Given the description of an element on the screen output the (x, y) to click on. 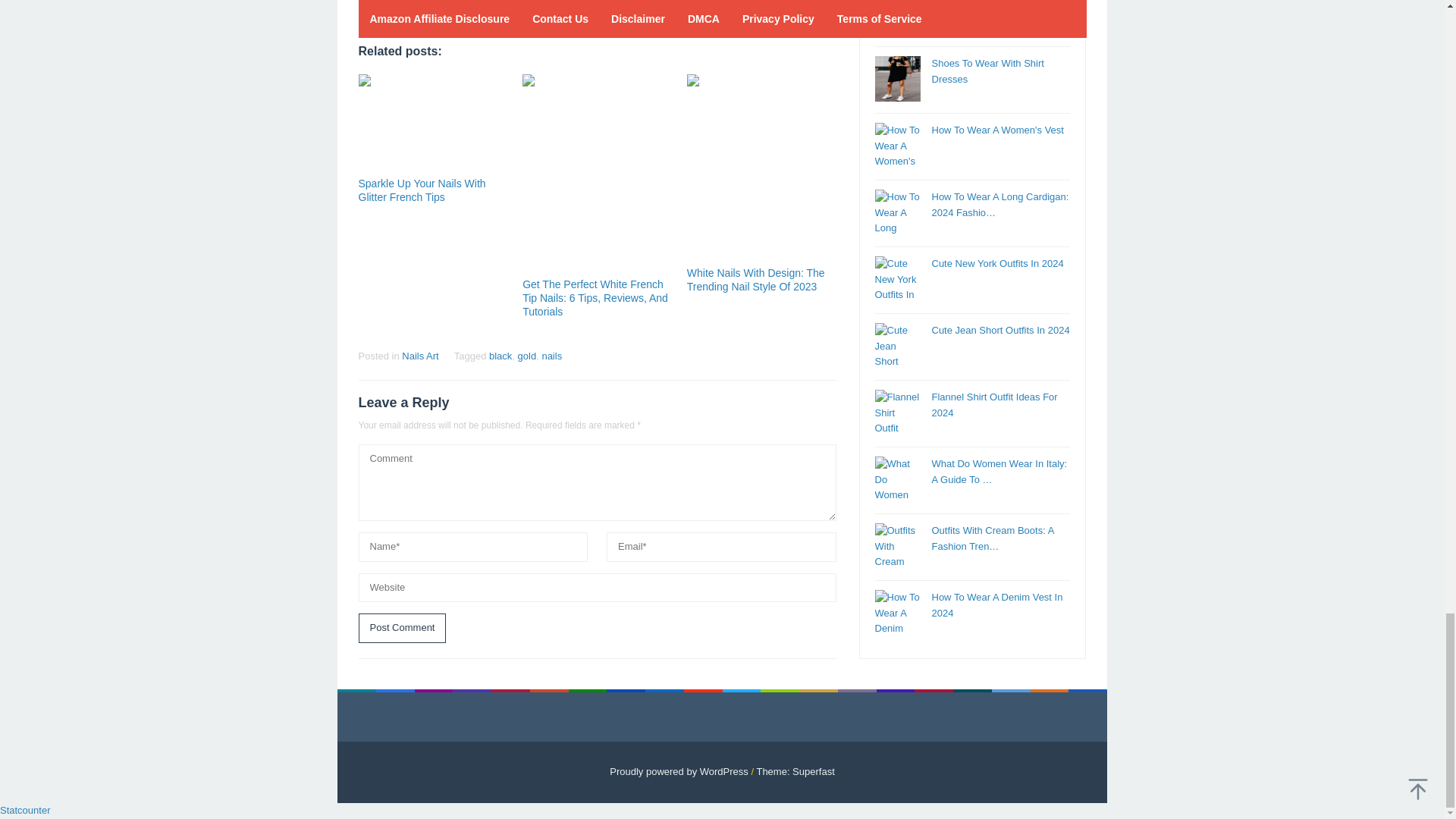
Whatsapp (475, 8)
Sparkle Up Your Nails With Glitter French Tips (421, 190)
Post Comment (401, 627)
Share this (369, 8)
Permalink to: Sparkle Up Your Nails With Glitter French Tips (421, 190)
White Nails With Design: The Trending Nail Style Of 2023 (756, 279)
gold (527, 355)
Pin this (421, 8)
Tweet this (396, 8)
Permalink to: Sparkle Up Your Nails With Glitter French Tips (432, 123)
nails (551, 355)
Nails Art (419, 355)
